Given the description of an element on the screen output the (x, y) to click on. 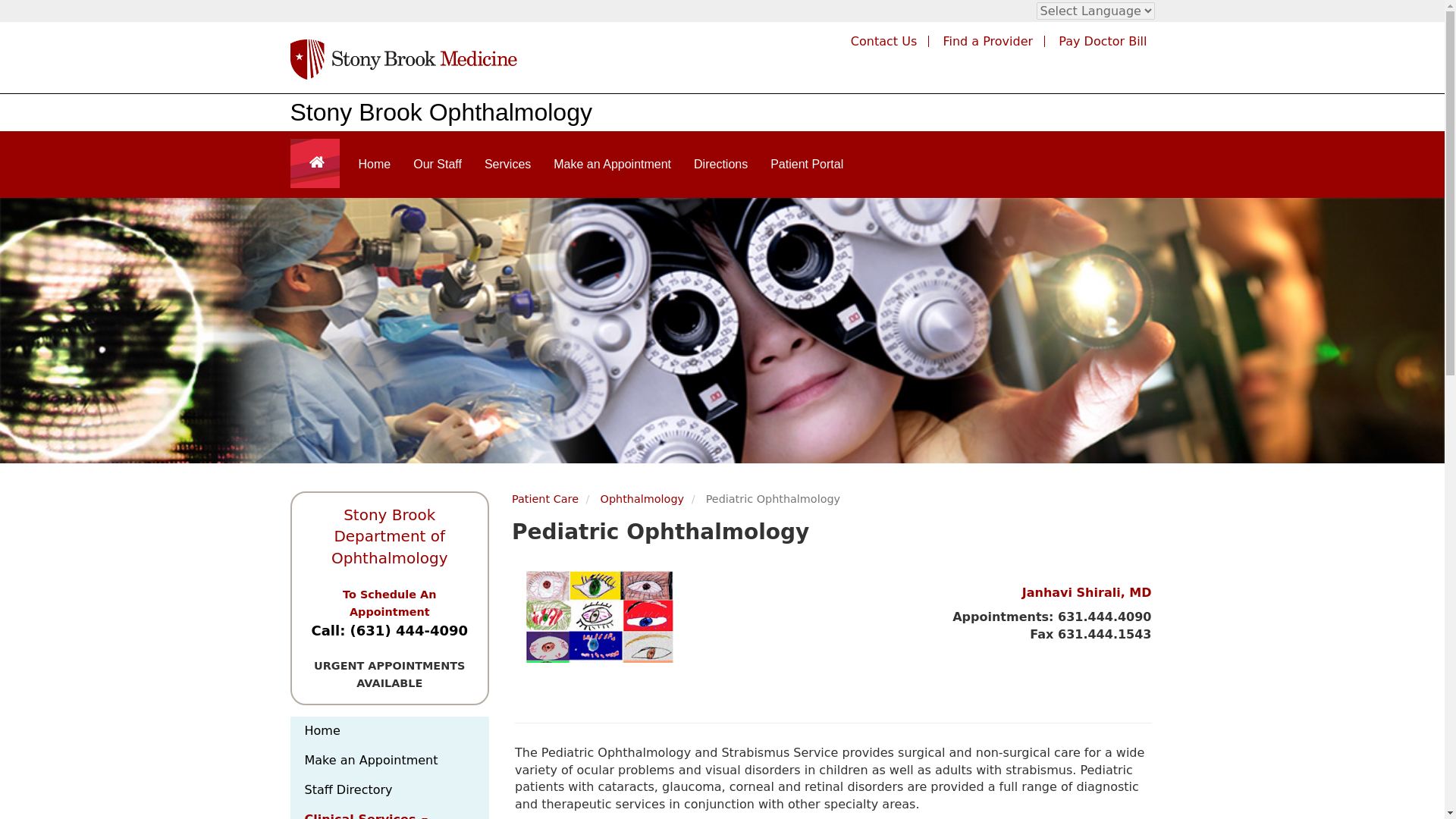
Find a Provider (987, 41)
Directions (720, 164)
Patient Portal (806, 164)
Pay Doctor Bill (1102, 41)
Patient Care (545, 499)
Ophthalmology (641, 499)
Home (389, 731)
Make an Appointment (389, 760)
Clinical Services (389, 812)
Contact Us (883, 41)
Services (507, 164)
Our Staff (437, 164)
Stony Brook Ophthalmology (440, 112)
Staff Directory (389, 790)
